Given the description of an element on the screen output the (x, y) to click on. 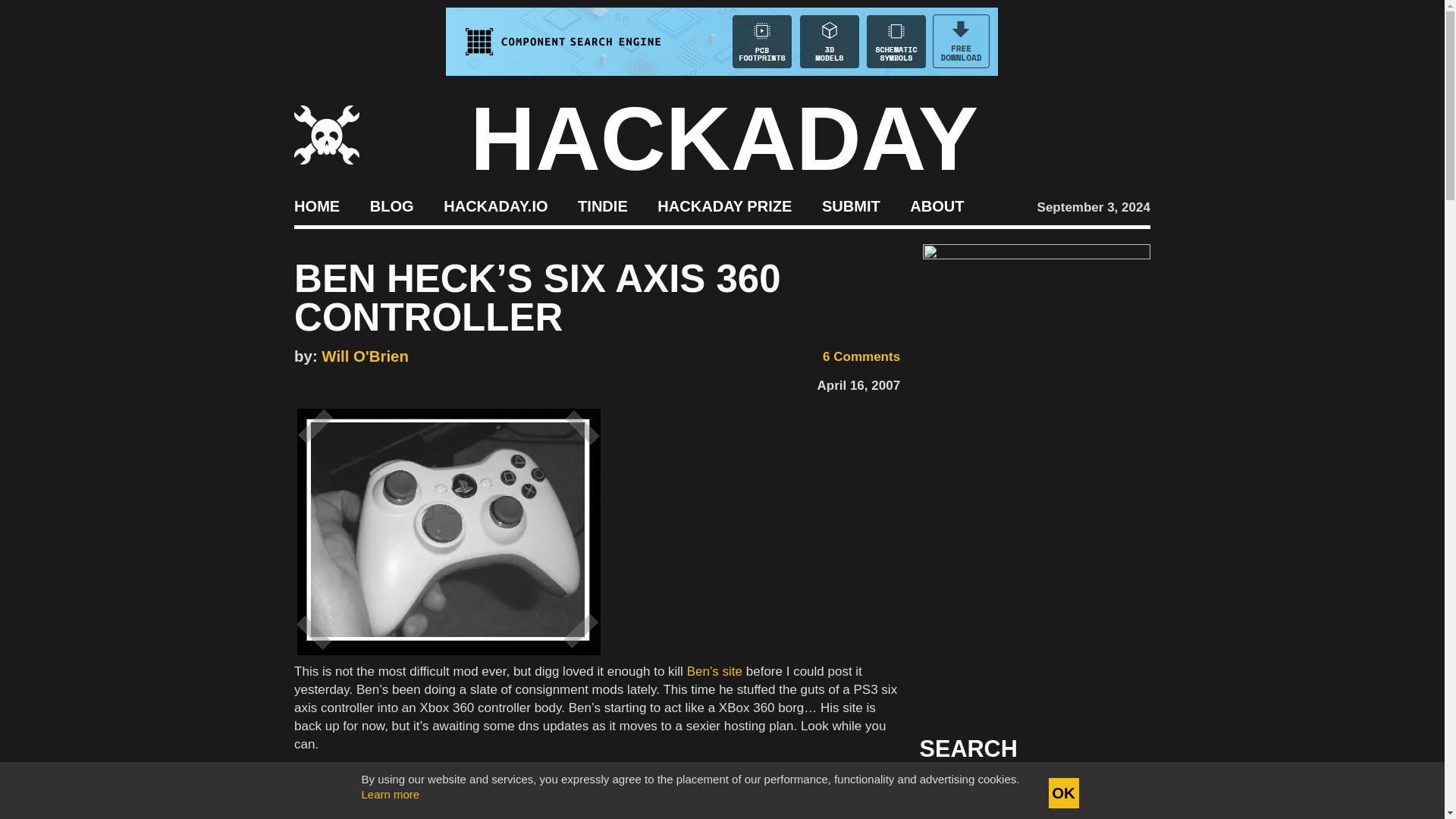
Posts by Will O'Brien (365, 356)
HACKADAY.IO (495, 205)
permalink (347, 775)
BLOG (391, 205)
Share on Twitter (324, 381)
ABOUT (936, 205)
HOME (316, 205)
6 Comments (851, 356)
Copy title or shortlink (391, 381)
Search (1115, 792)
